Given the description of an element on the screen output the (x, y) to click on. 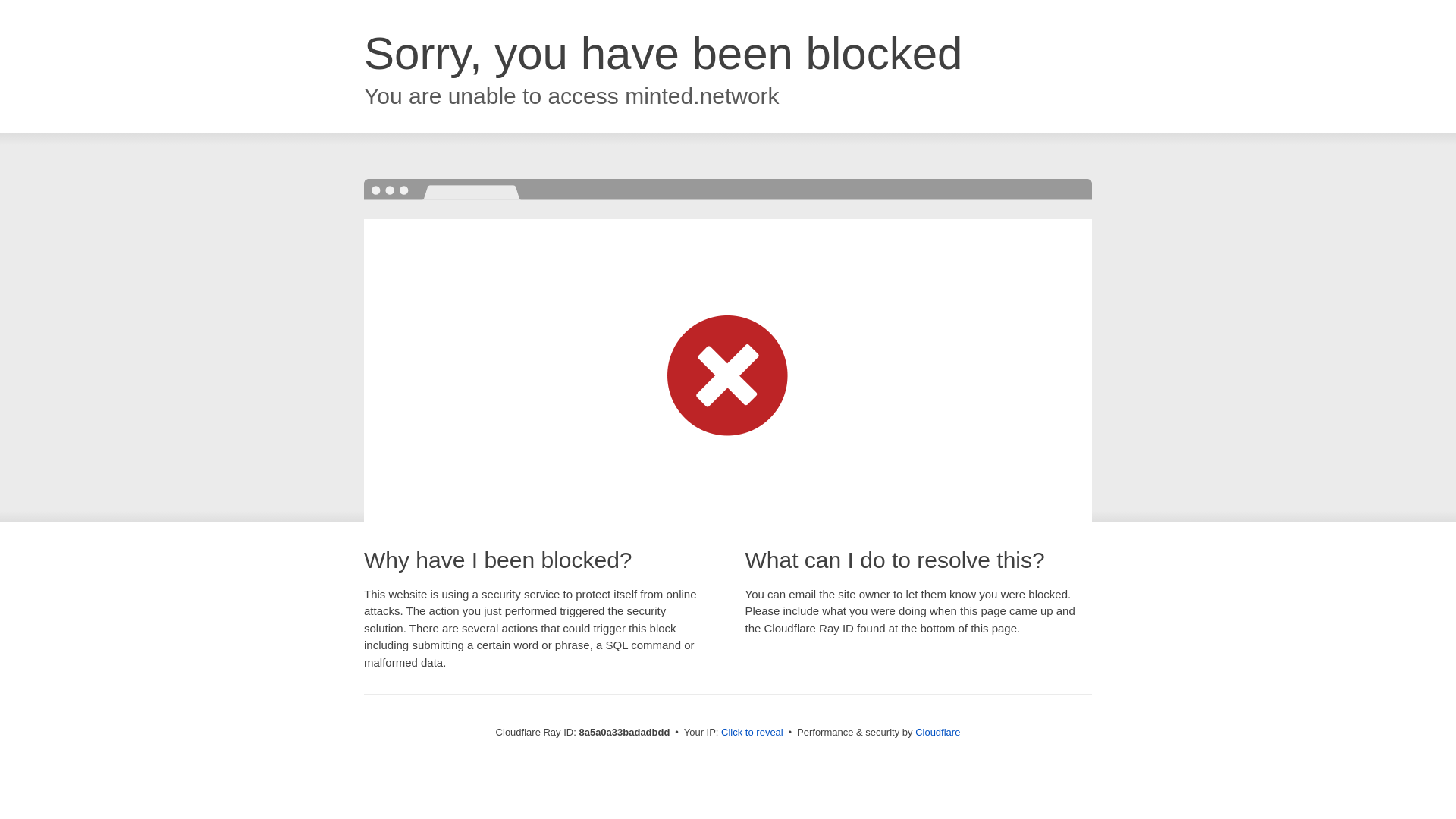
Cloudflare (937, 731)
Click to reveal (751, 732)
